Given the description of an element on the screen output the (x, y) to click on. 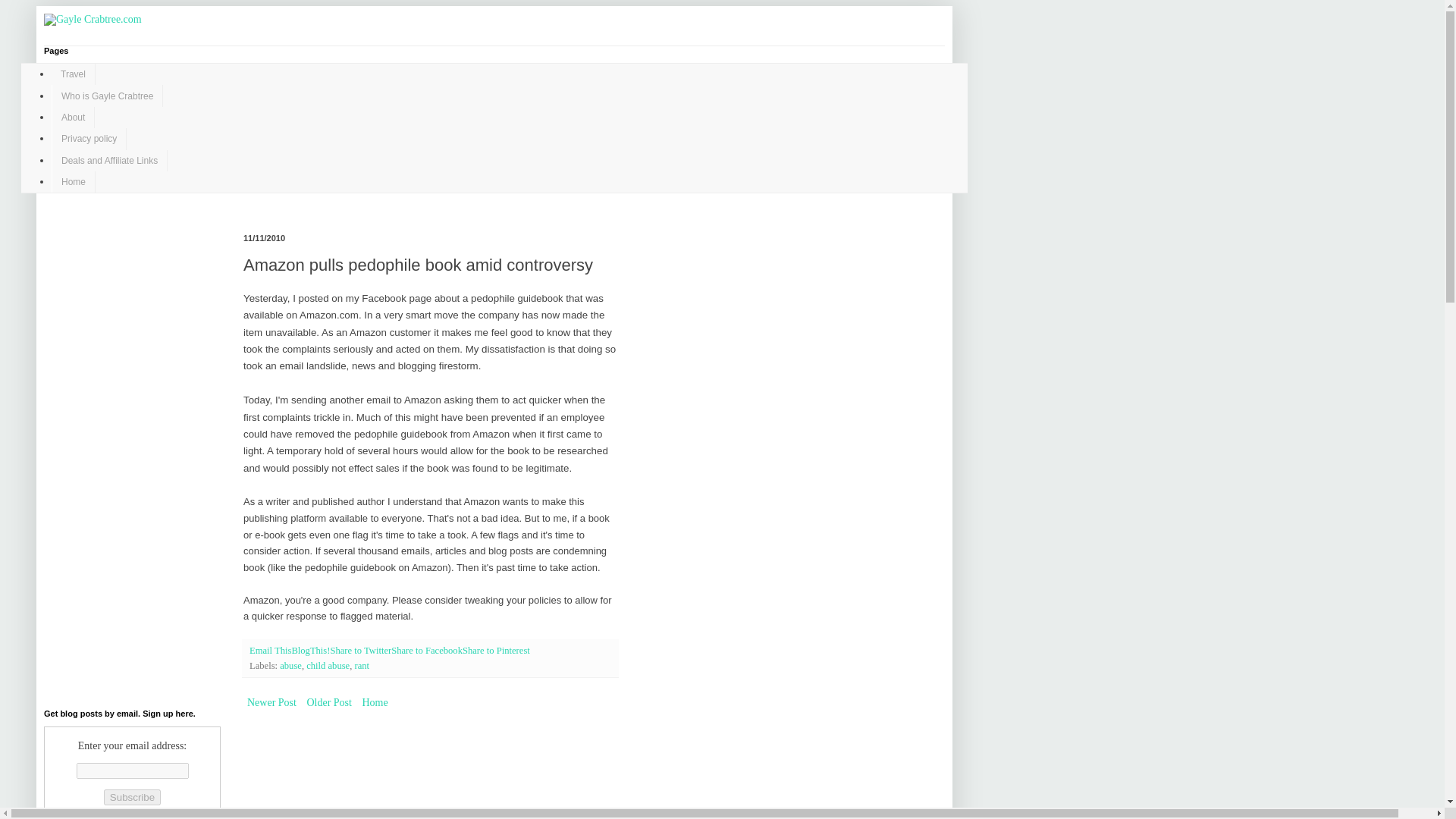
Home (73, 181)
Share to Twitter (360, 650)
Older Post (328, 701)
Email This (269, 650)
Newer Post (271, 701)
Subscribe (131, 797)
FeedBurner (161, 817)
Privacy policy (88, 138)
Travel (73, 74)
Email This (269, 650)
About (72, 117)
Share to Pinterest (496, 650)
BlogThis! (310, 650)
Share to Pinterest (496, 650)
rant (362, 665)
